Given the description of an element on the screen output the (x, y) to click on. 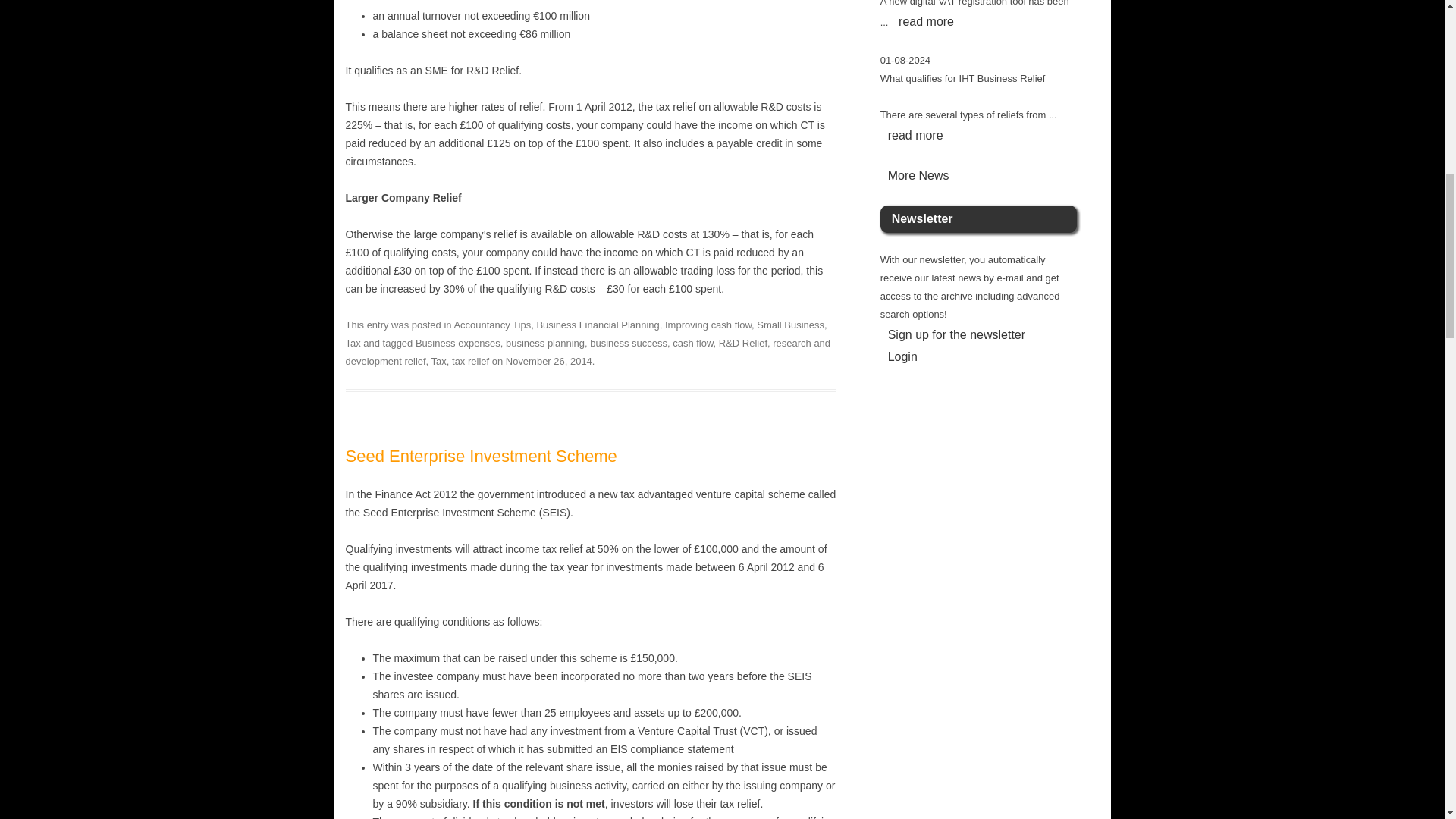
business planning (545, 342)
View all posts in Tax (353, 342)
business success (627, 342)
Accountancy Tips (491, 324)
View all posts in Business Financial Planning (597, 324)
View all posts in Accountancy Tips (491, 324)
November 26, 2014 (548, 360)
View all posts in Improving cash flow (708, 324)
tax relief (470, 360)
Improving cash flow (708, 324)
Tax (353, 342)
View all posts in Small Business (790, 324)
Business Financial Planning (597, 324)
Small Business (790, 324)
Business expenses (457, 342)
